Given the description of an element on the screen output the (x, y) to click on. 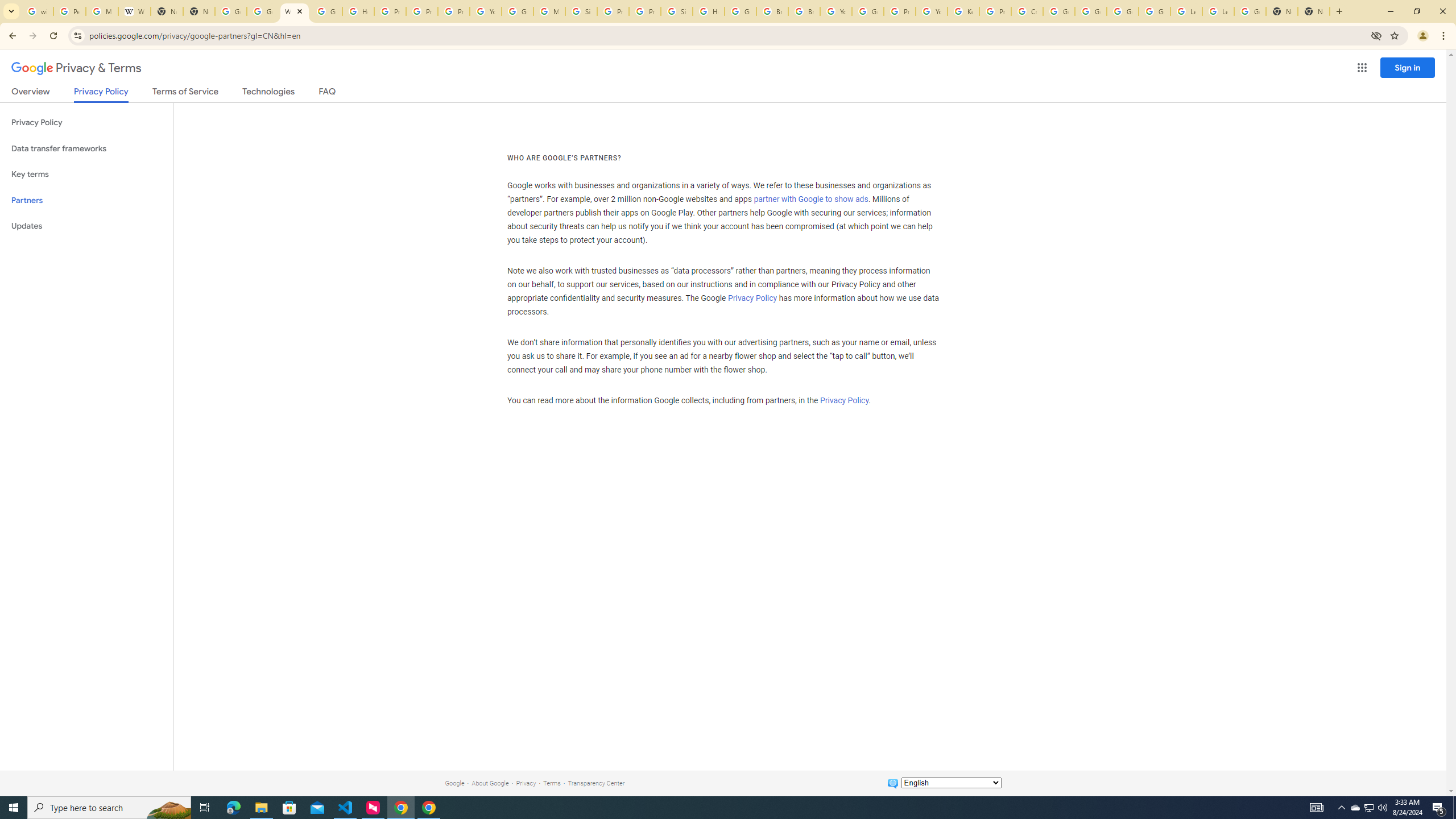
Google Account Help (1154, 11)
Sign in - Google Accounts (581, 11)
New Tab (1313, 11)
Google Account Help (1123, 11)
Sign in - Google Accounts (676, 11)
Wikipedia:Edit requests - Wikipedia (134, 11)
